Given the description of an element on the screen output the (x, y) to click on. 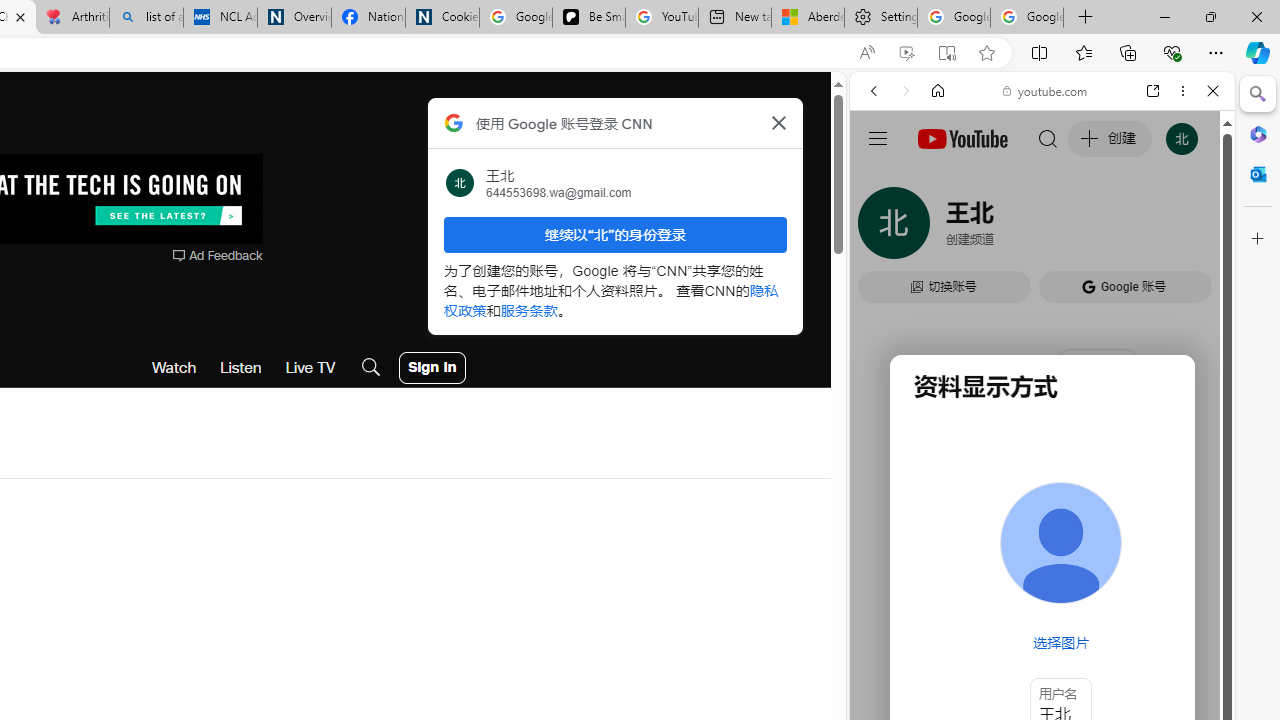
Arthritis: Ask Health Professionals (71, 17)
Search Filter, Search Tools (1093, 228)
list of asthma inhalers uk - Search (146, 17)
Preferences (1189, 228)
Show More Music (1164, 546)
Web scope (882, 180)
Trailer #2 [HD] (1042, 594)
